Given the description of an element on the screen output the (x, y) to click on. 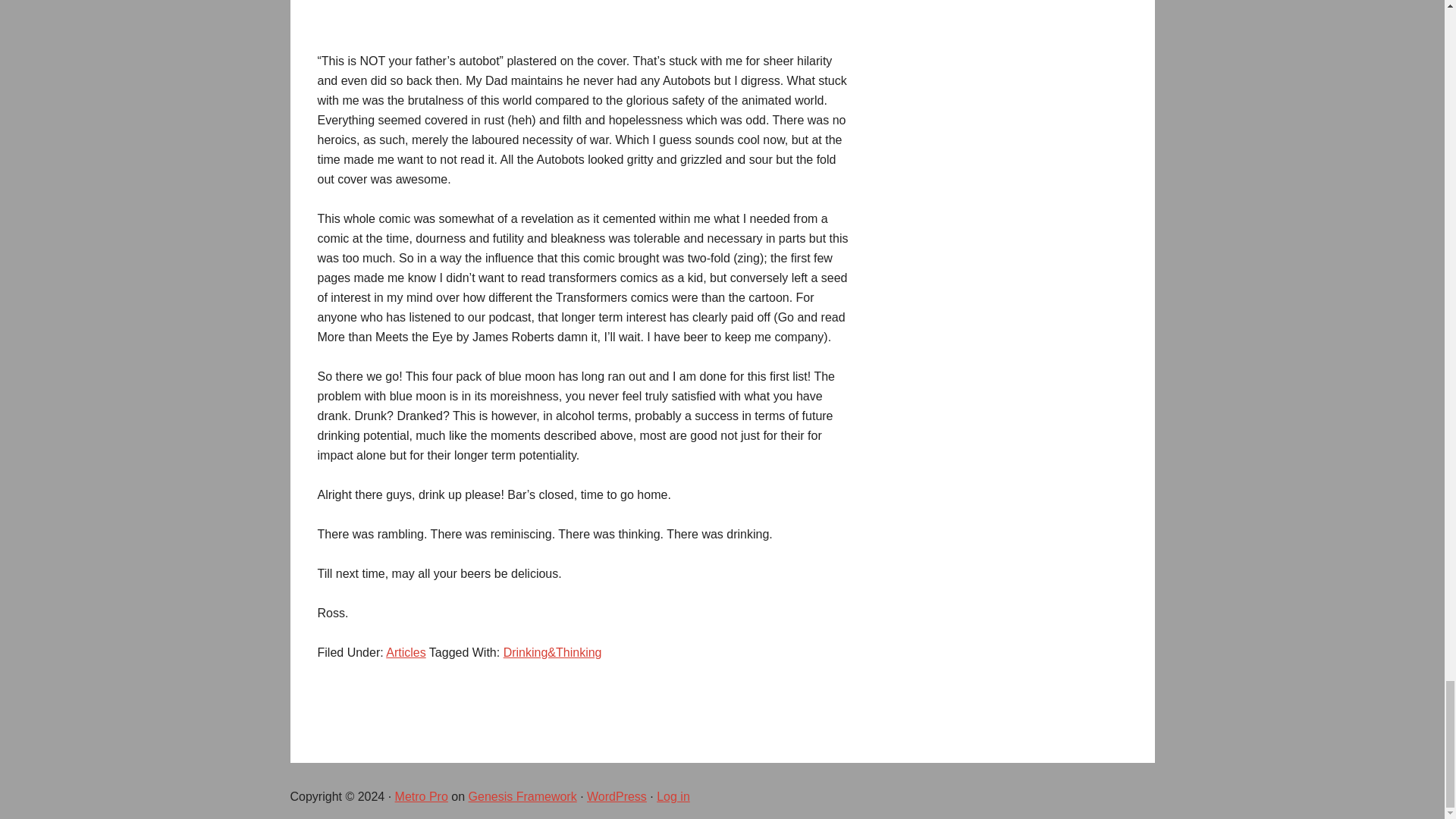
Articles (405, 652)
